Given the description of an element on the screen output the (x, y) to click on. 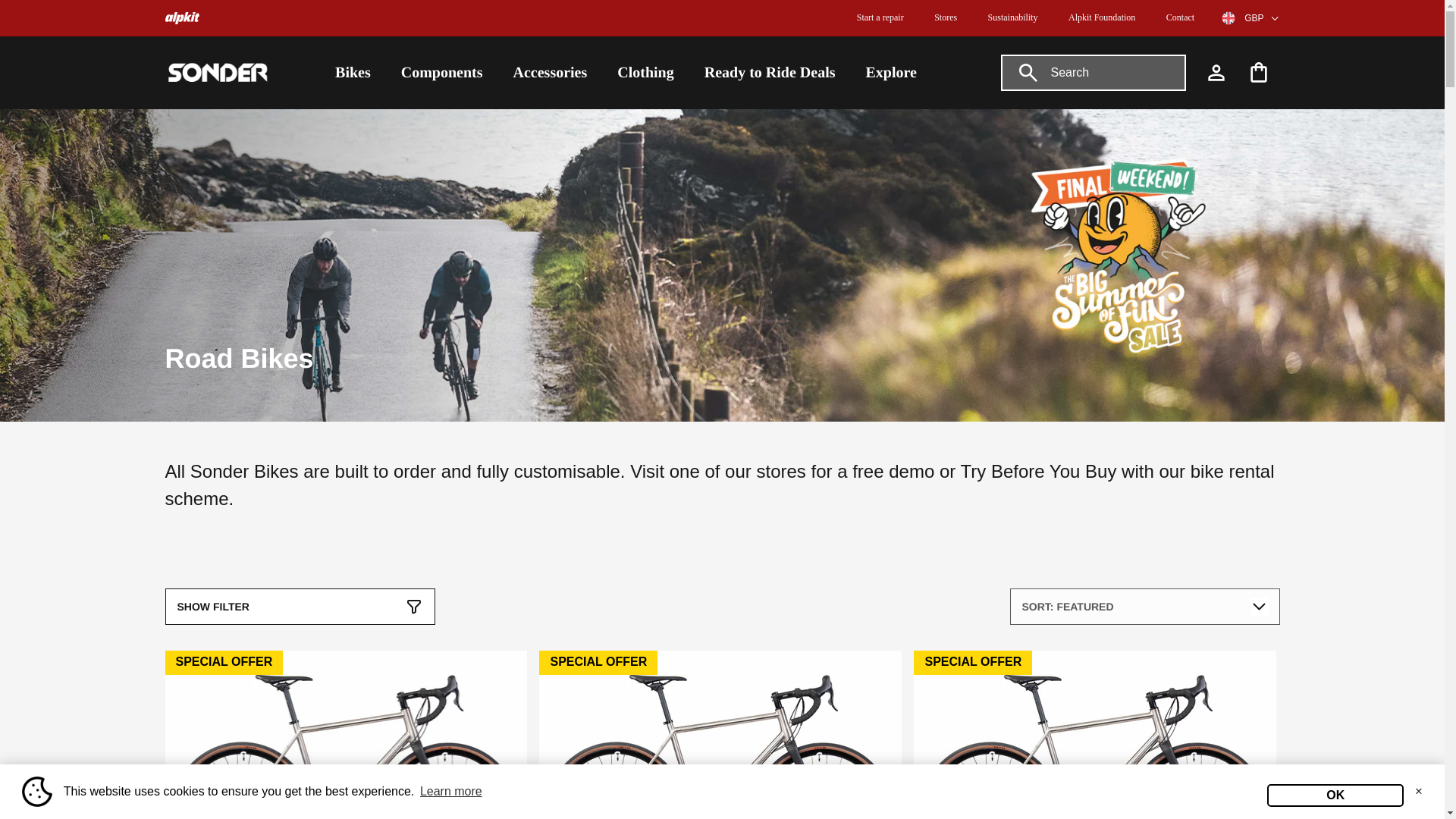
Start a repair (880, 17)
Stores (945, 17)
Learn more (450, 791)
OK (1334, 794)
Alpkit Foundation (1101, 17)
Bikes (352, 72)
Contact (1179, 17)
Sustainability (1013, 17)
SKIP TO CONTENT (64, 7)
